Given the description of an element on the screen output the (x, y) to click on. 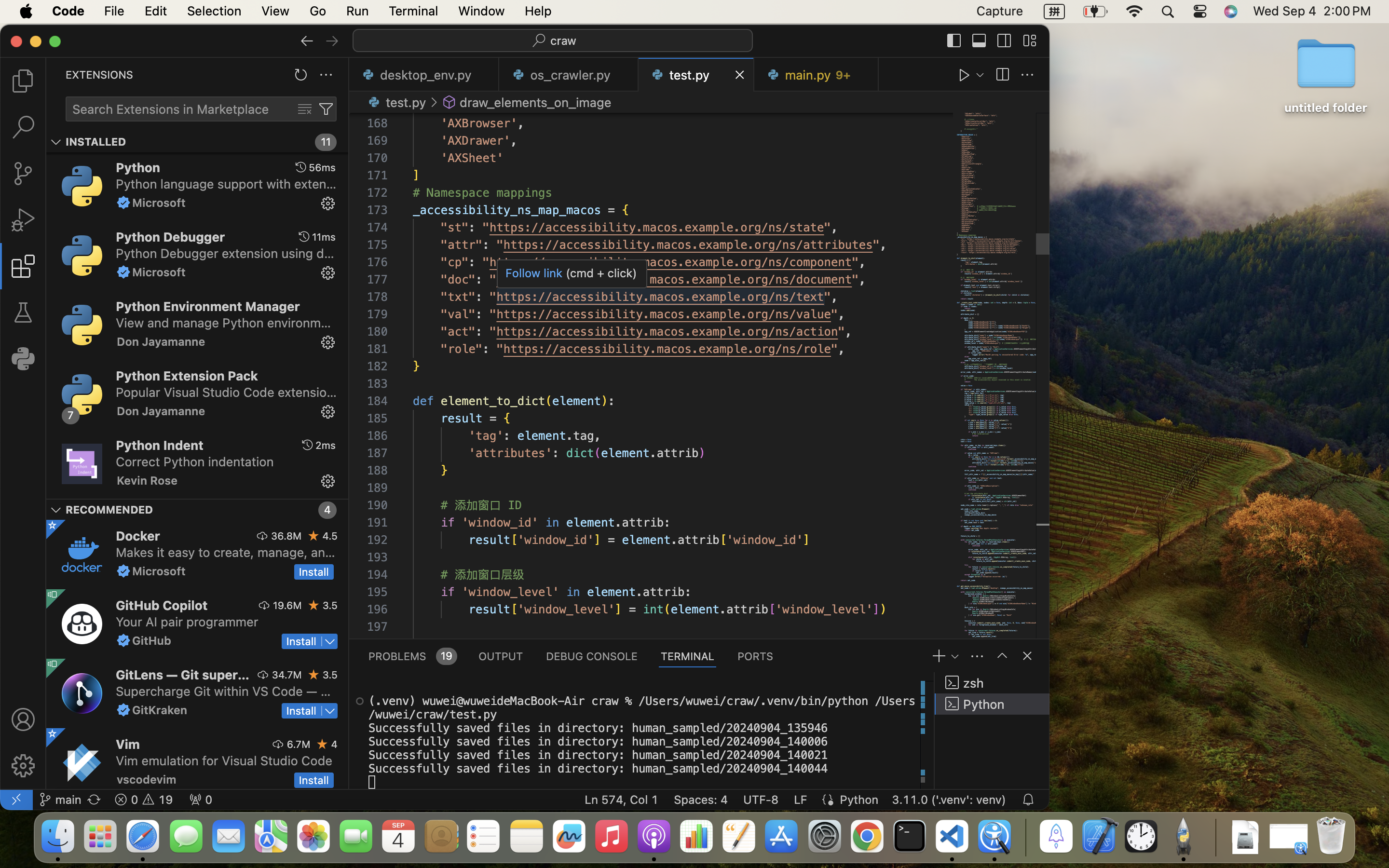
test.py  Element type: AXGroup (395, 101)
Python Environment Manager Element type: AXStaticText (207, 305)
 Element type: AXGroup (23, 219)
Correct Python indentation Element type: AXStaticText (194, 461)
Makes it easy to create, manage, and debug containerized applications. Element type: AXStaticText (225, 551)
